Given the description of an element on the screen output the (x, y) to click on. 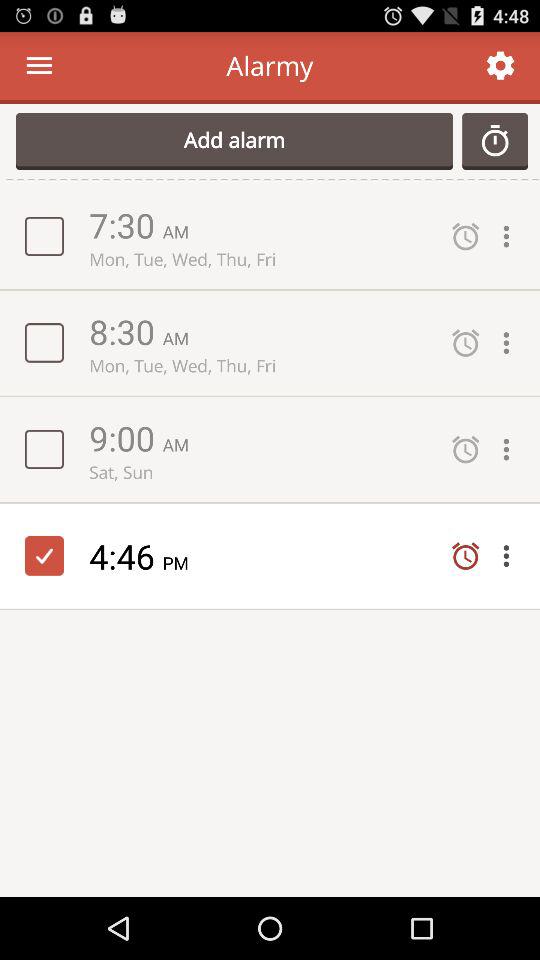
jump to the add alarm item (234, 141)
